Given the description of an element on the screen output the (x, y) to click on. 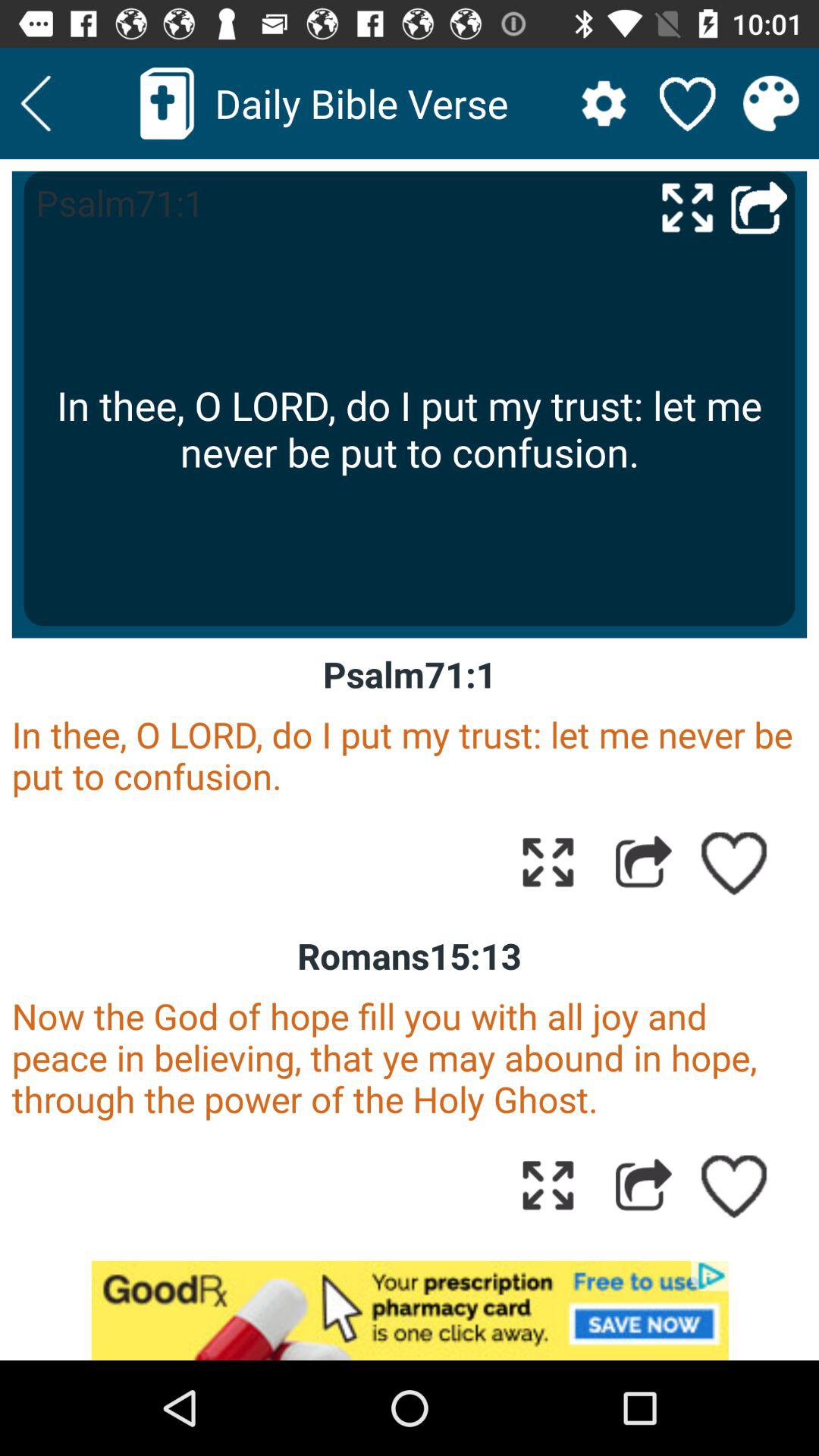
select information (771, 103)
